Given the description of an element on the screen output the (x, y) to click on. 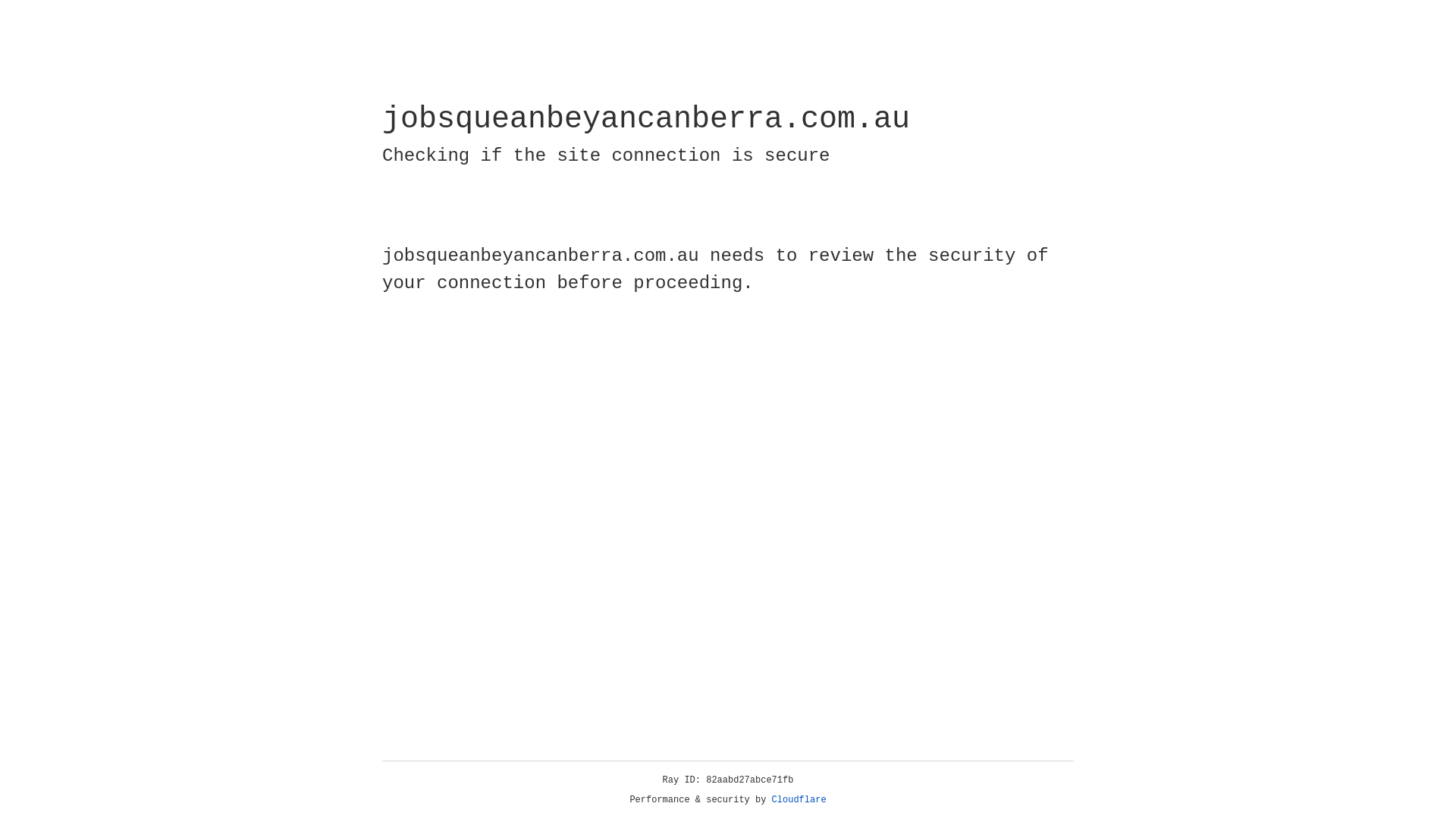
Cloudflare Element type: text (798, 799)
